Given the description of an element on the screen output the (x, y) to click on. 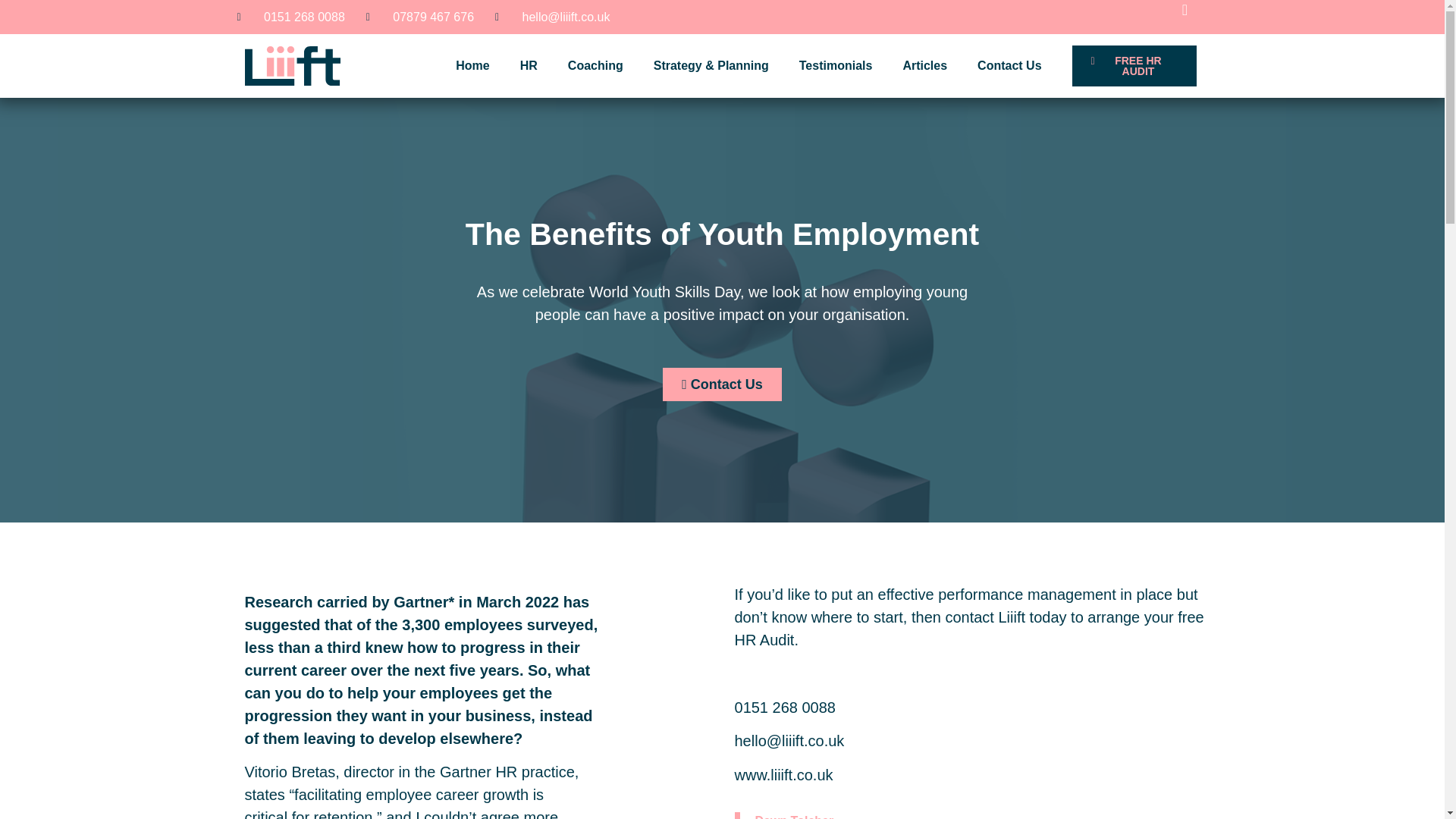
0151 268 0088 (289, 16)
Coaching (596, 65)
Contact Us (1009, 65)
HR (529, 65)
07879 467 676 (420, 16)
Home (472, 65)
Testimonials (836, 65)
FREE HR AUDIT (1133, 65)
Articles (924, 65)
